Given the description of an element on the screen output the (x, y) to click on. 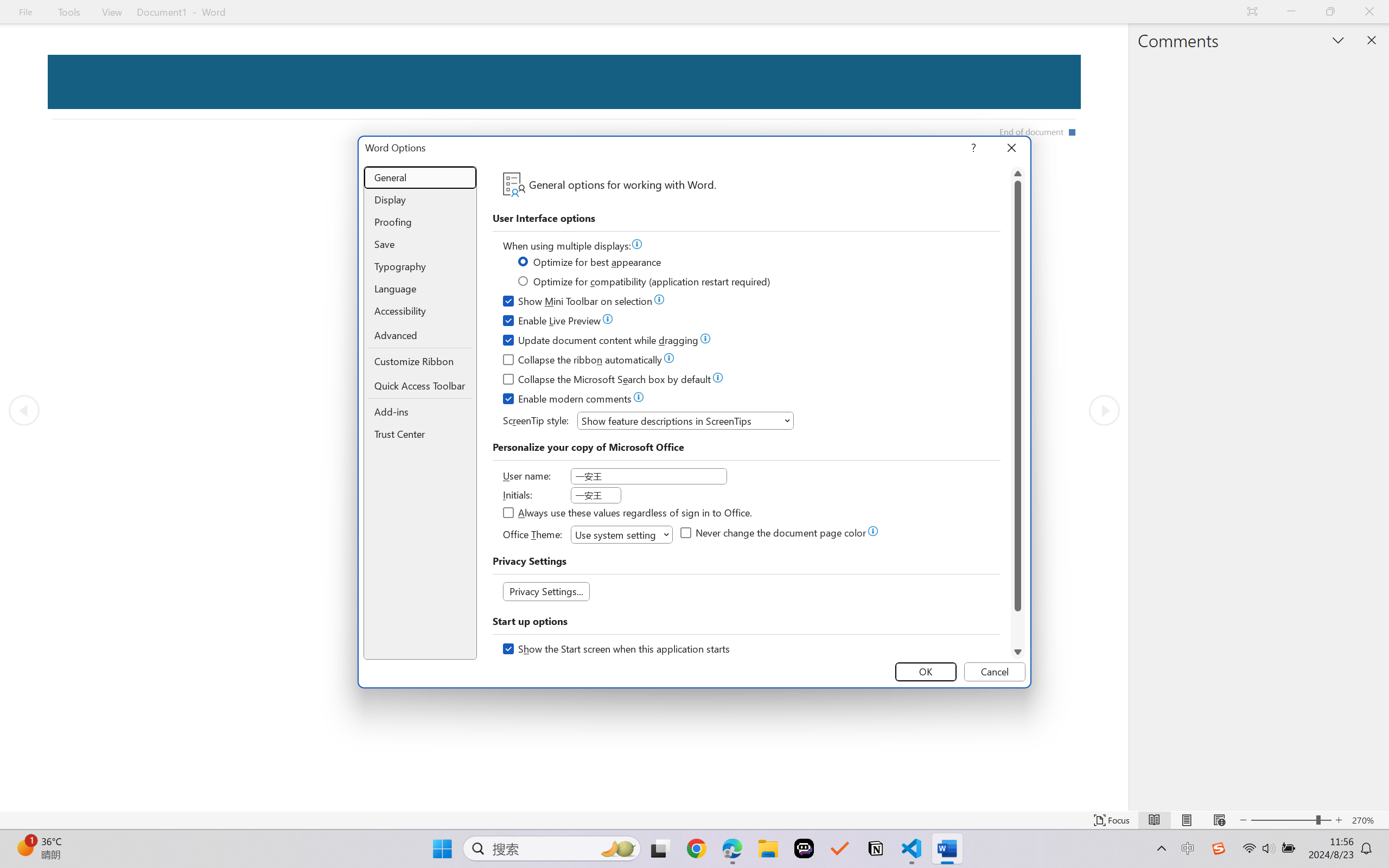
Optimize for best appearance (590, 263)
Tools (69, 11)
Display (419, 199)
